Given the description of an element on the screen output the (x, y) to click on. 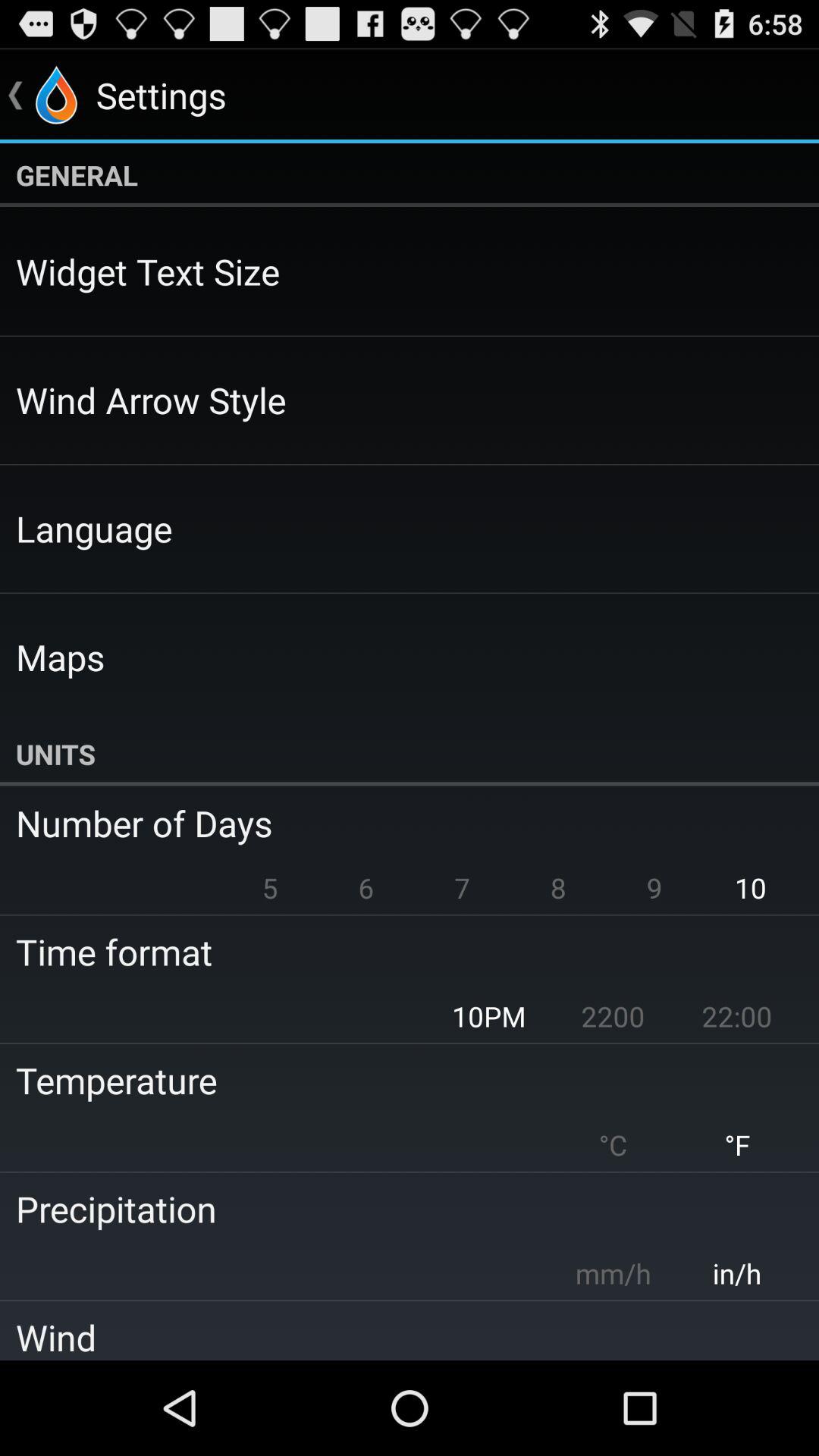
turn off 10pm icon (489, 1016)
